Given the description of an element on the screen output the (x, y) to click on. 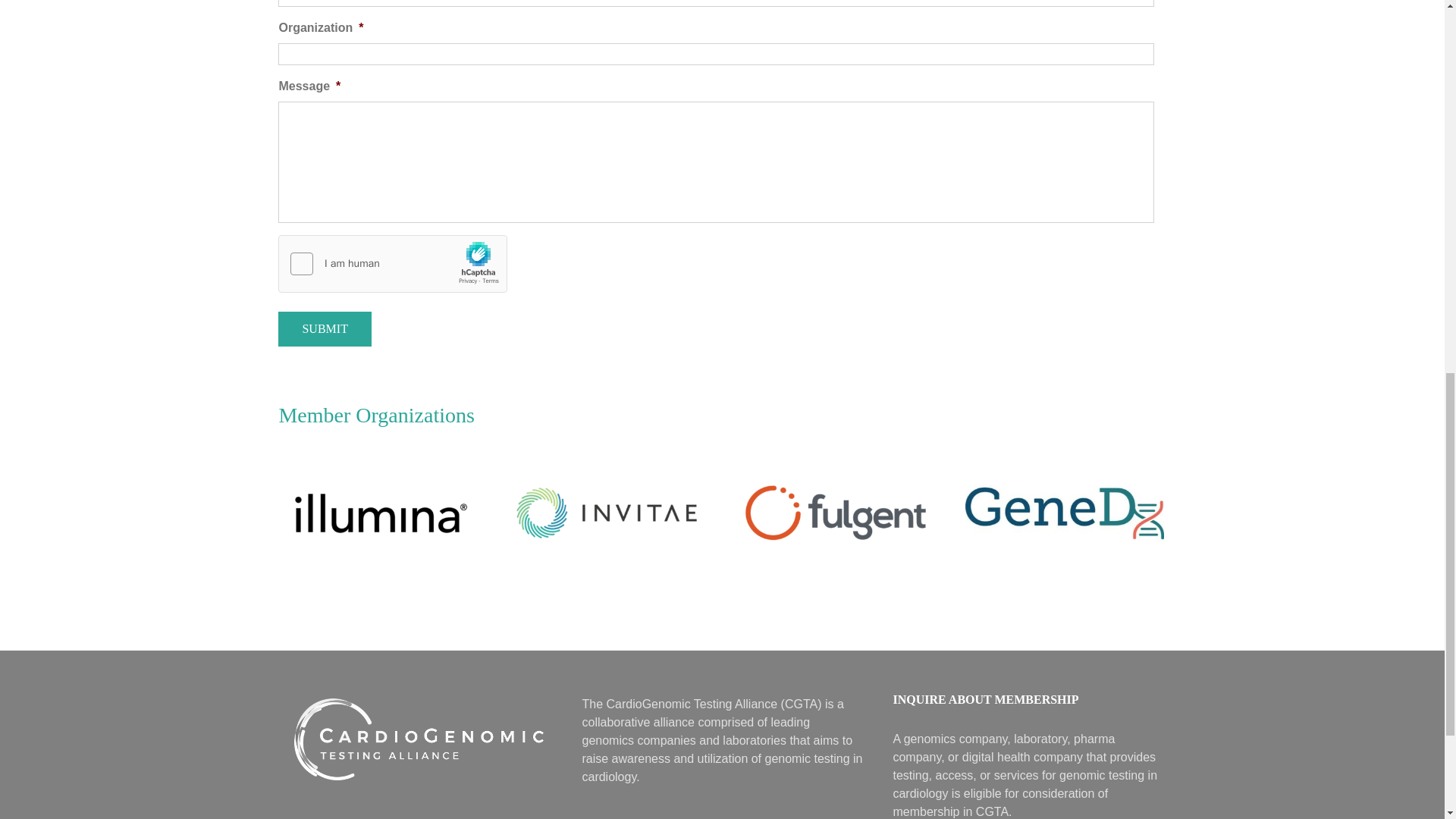
Widget containing checkbox for hCaptcha security challenge (393, 264)
Submit (324, 329)
Submit (324, 329)
